Given the description of an element on the screen output the (x, y) to click on. 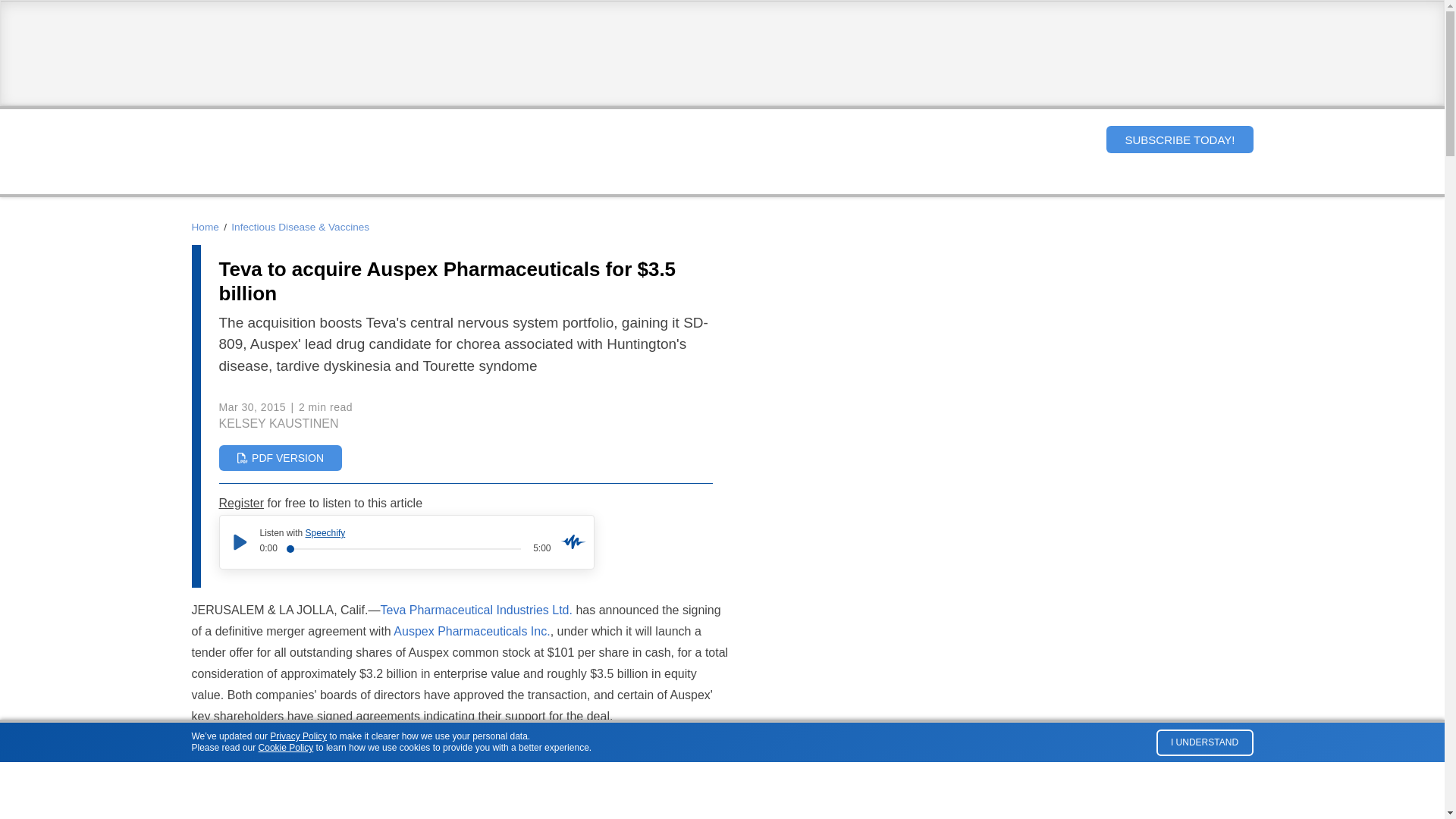
DISEASE FOCUS (665, 179)
SUBSCRIBE TODAY! (1179, 139)
Search (1081, 139)
